Given the description of an element on the screen output the (x, y) to click on. 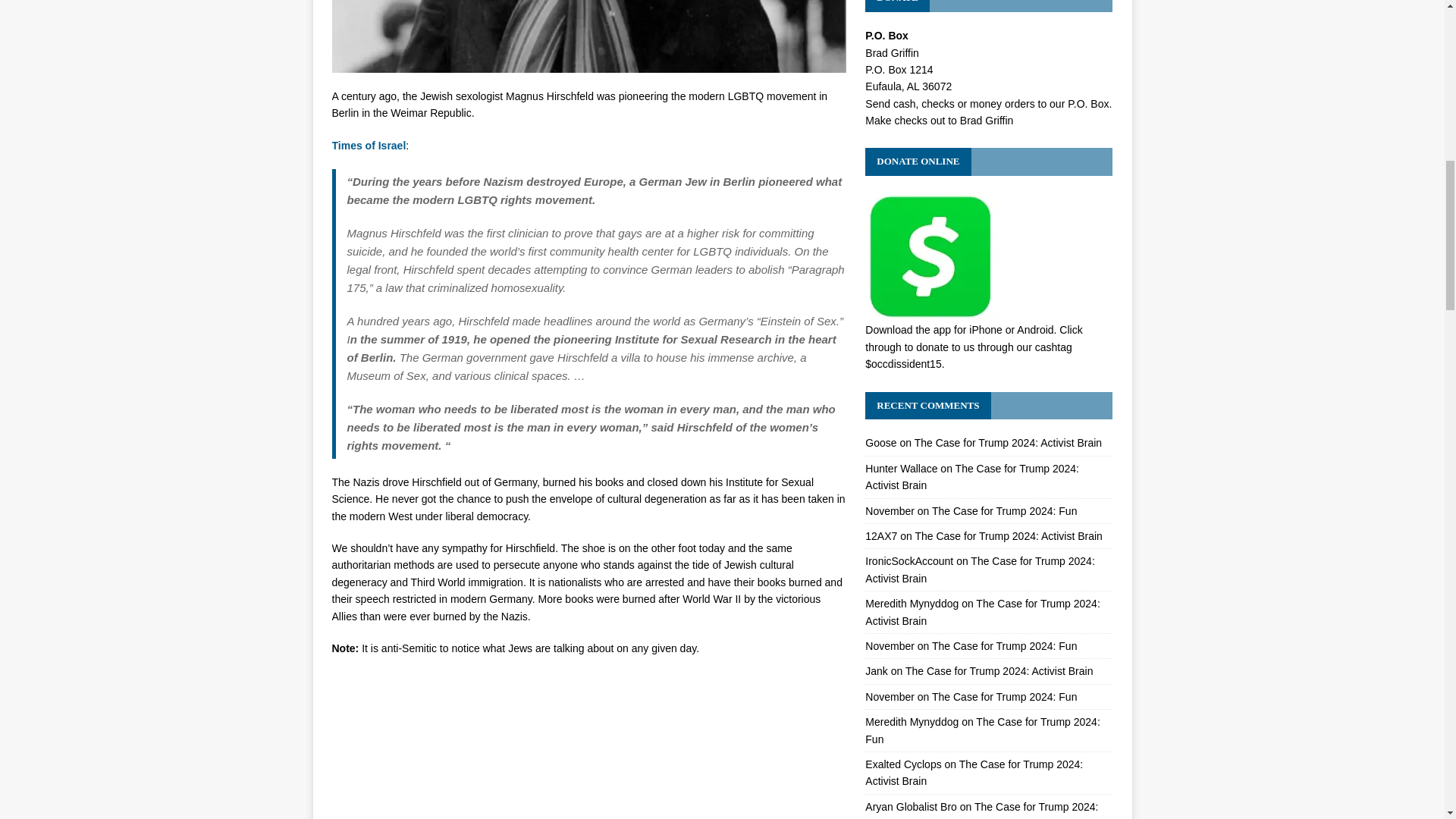
Times of Israel (368, 145)
hirschfeld (588, 36)
